Given the description of an element on the screen output the (x, y) to click on. 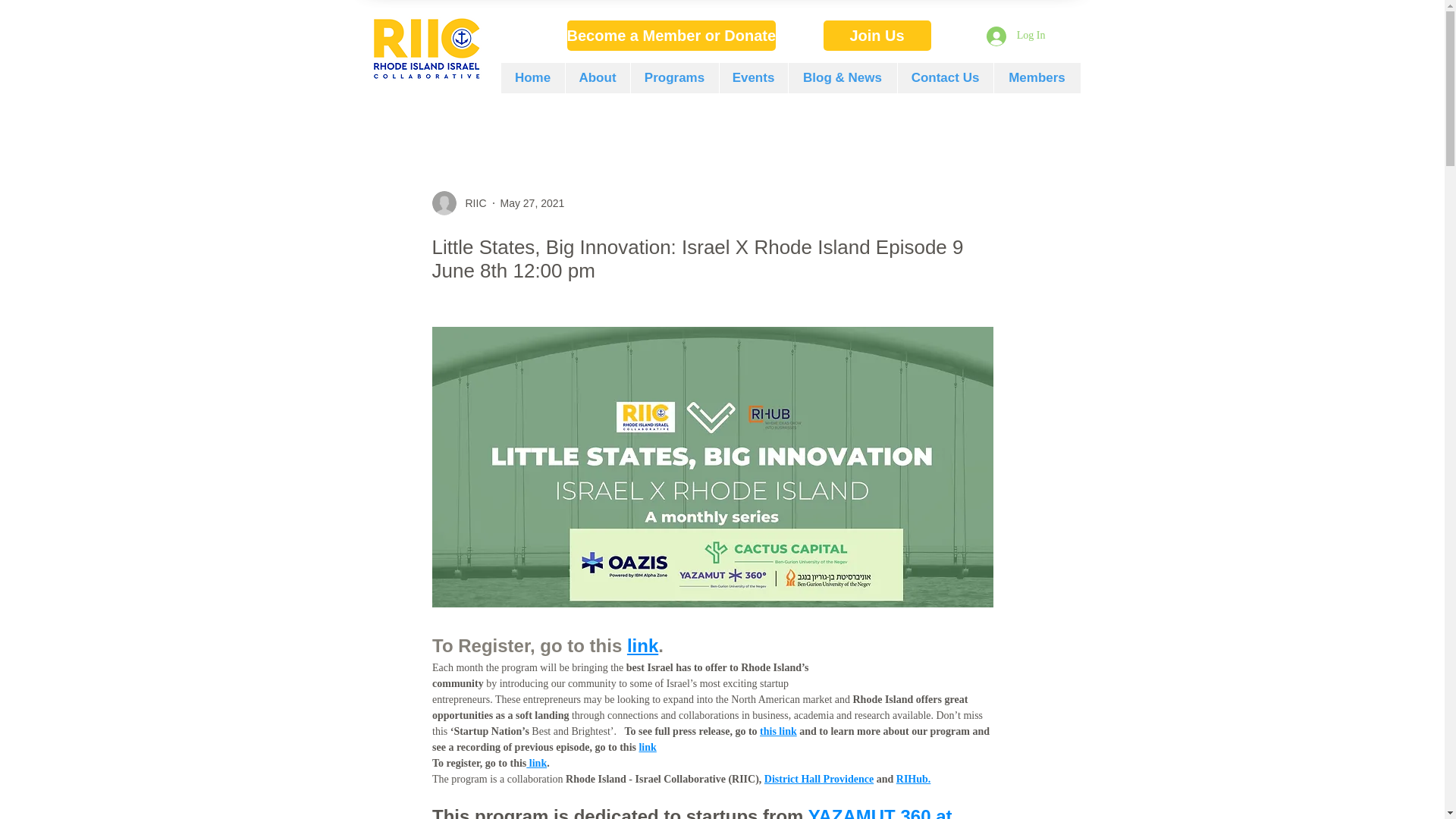
YAZAMUT 360 at  (882, 812)
May 27, 2021 (532, 203)
 link (536, 763)
Become a Member or Donate (671, 35)
RIIC (459, 202)
Join Us (877, 35)
Home (532, 78)
About (596, 78)
link (642, 645)
RIIC (471, 203)
